Given the description of an element on the screen output the (x, y) to click on. 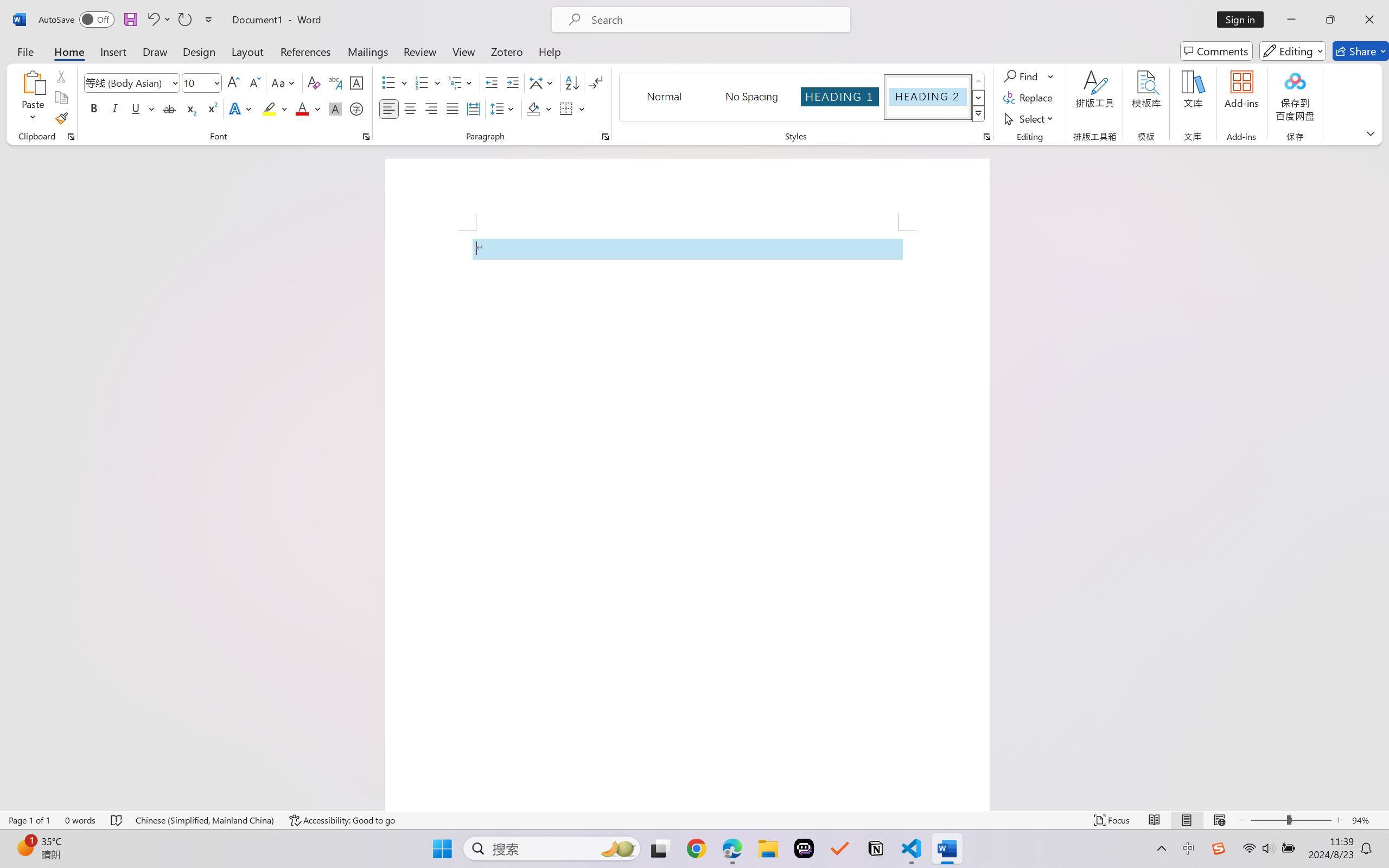
Undo Apply Quick Style (158, 19)
